Given the description of an element on the screen output the (x, y) to click on. 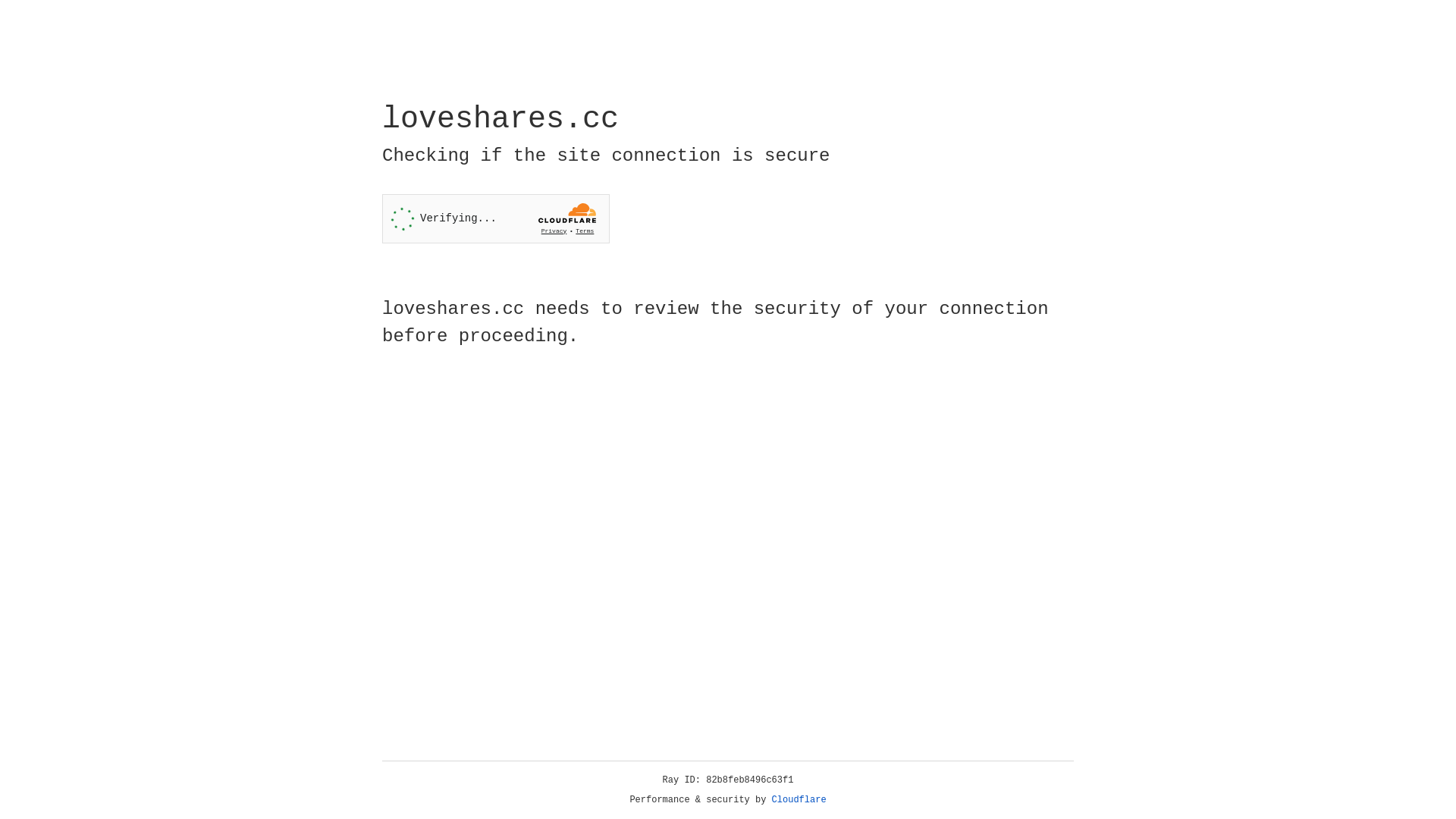
Cloudflare Element type: text (798, 799)
Widget containing a Cloudflare security challenge Element type: hover (495, 218)
